Given the description of an element on the screen output the (x, y) to click on. 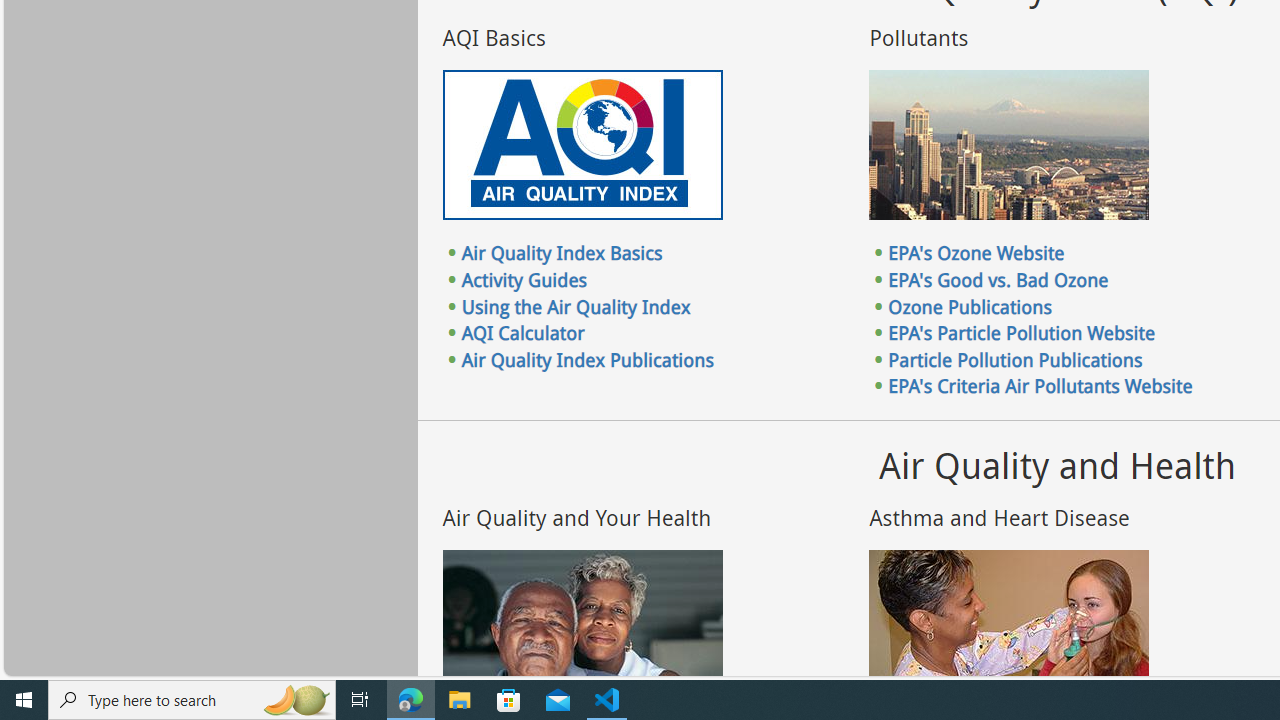
Asthma and Heart Disease (1009, 623)
EPA's Good vs. Bad Ozone (998, 279)
EPA's Criteria Air Pollutants Website (1040, 386)
Air Quality Index Basics (561, 253)
AQI Calculator (522, 333)
Ozone Publications (970, 306)
Using the Air Quality Index (575, 306)
Particle Pollution Publications (1015, 359)
EPA's Particle Pollution Website (1021, 333)
